Given the description of an element on the screen output the (x, y) to click on. 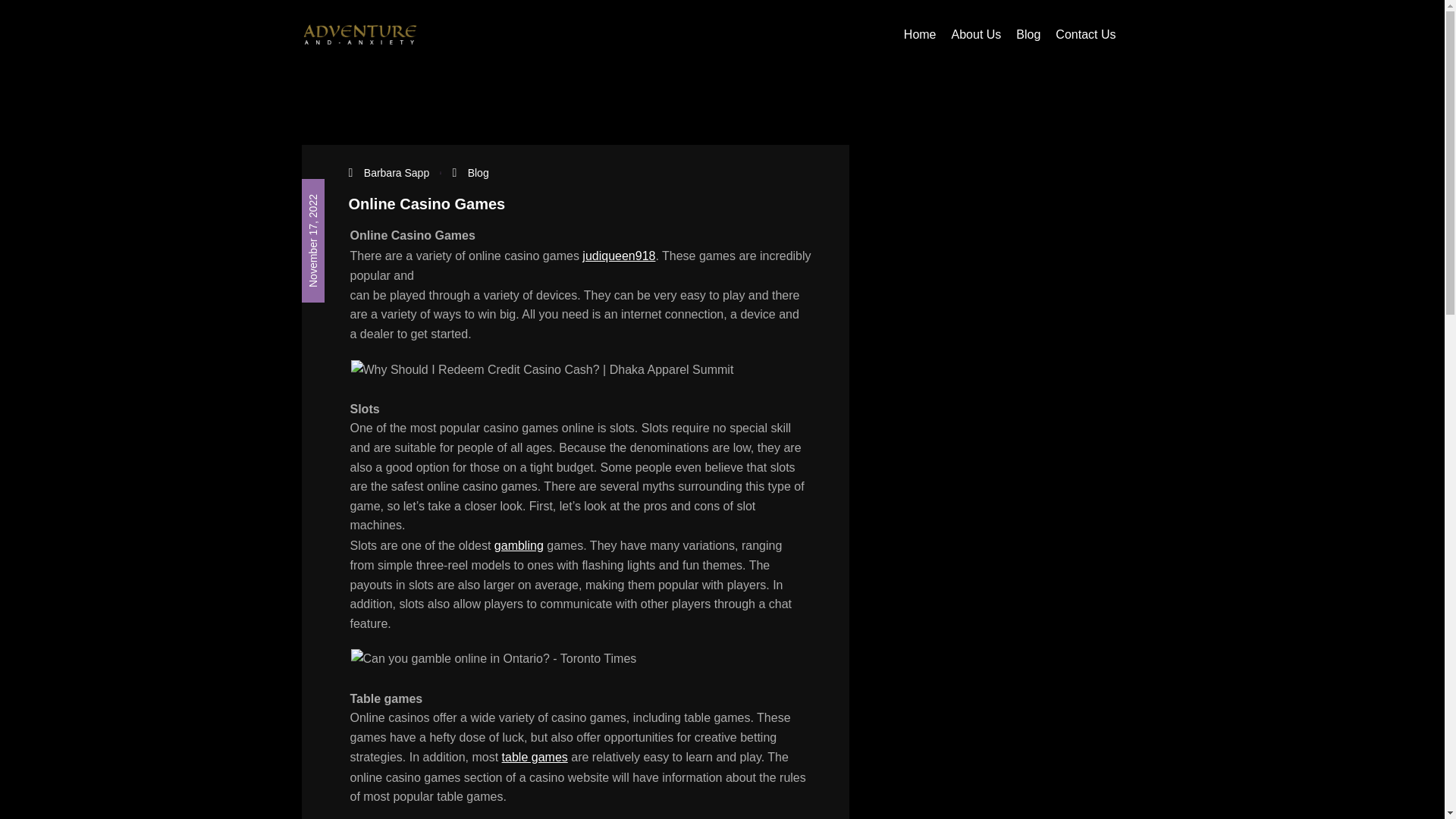
gambling (519, 545)
Contact Us (1085, 34)
About Us (976, 34)
Blog (478, 172)
November 17, 2022 (363, 190)
Barbara Sapp (396, 172)
judiqueen918 (618, 255)
table games (534, 757)
